Given the description of an element on the screen output the (x, y) to click on. 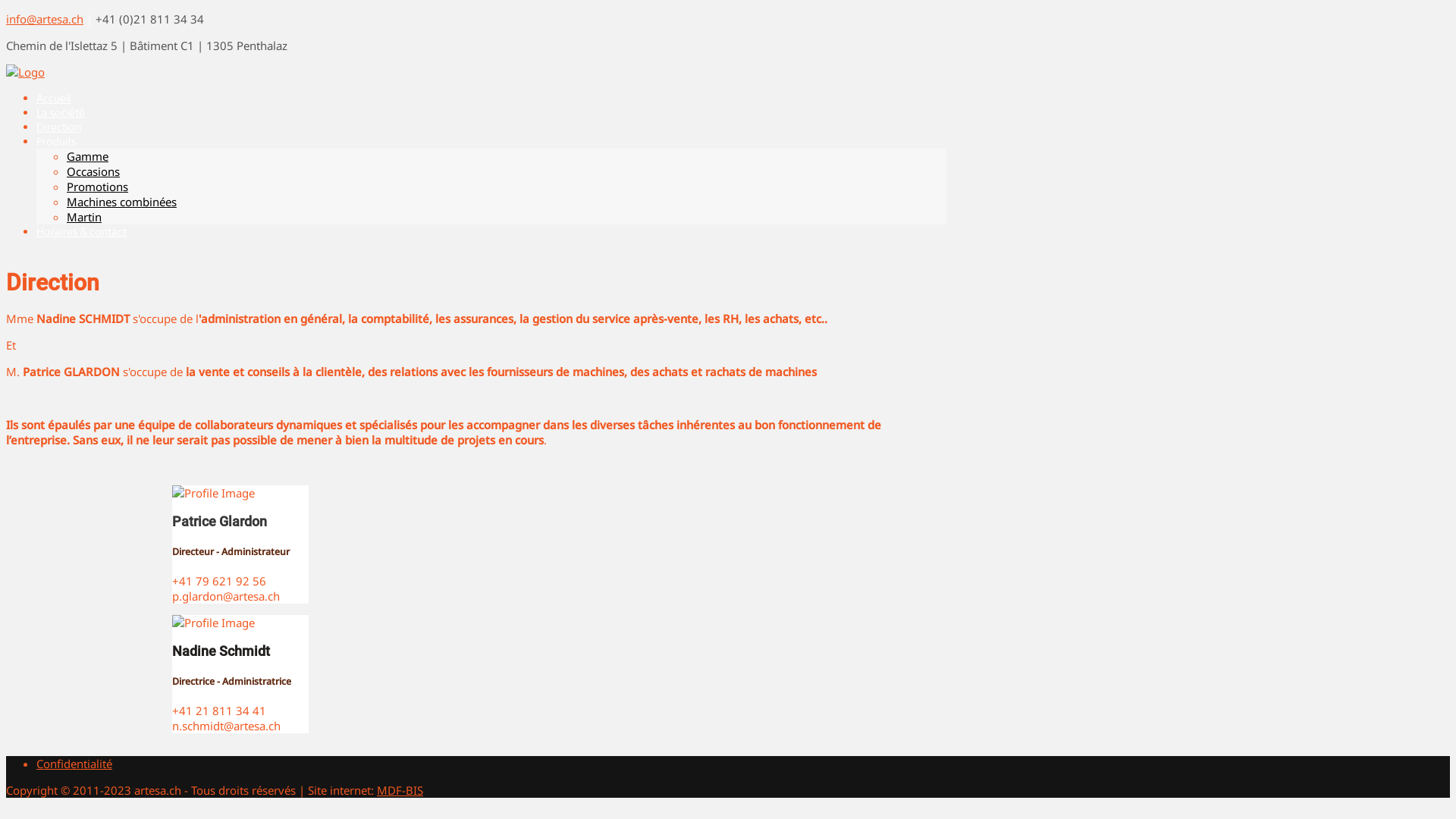
Occasions Element type: text (92, 170)
Horaires & contact Element type: text (81, 231)
Direction Element type: text (58, 126)
MDF-BIS Element type: text (399, 789)
Accueil Element type: text (53, 98)
Martin Element type: text (83, 216)
info@artesa.ch Element type: text (44, 18)
Promotions Element type: text (97, 186)
Produits Element type: text (55, 141)
Gamme Element type: text (87, 155)
